Given the description of an element on the screen output the (x, y) to click on. 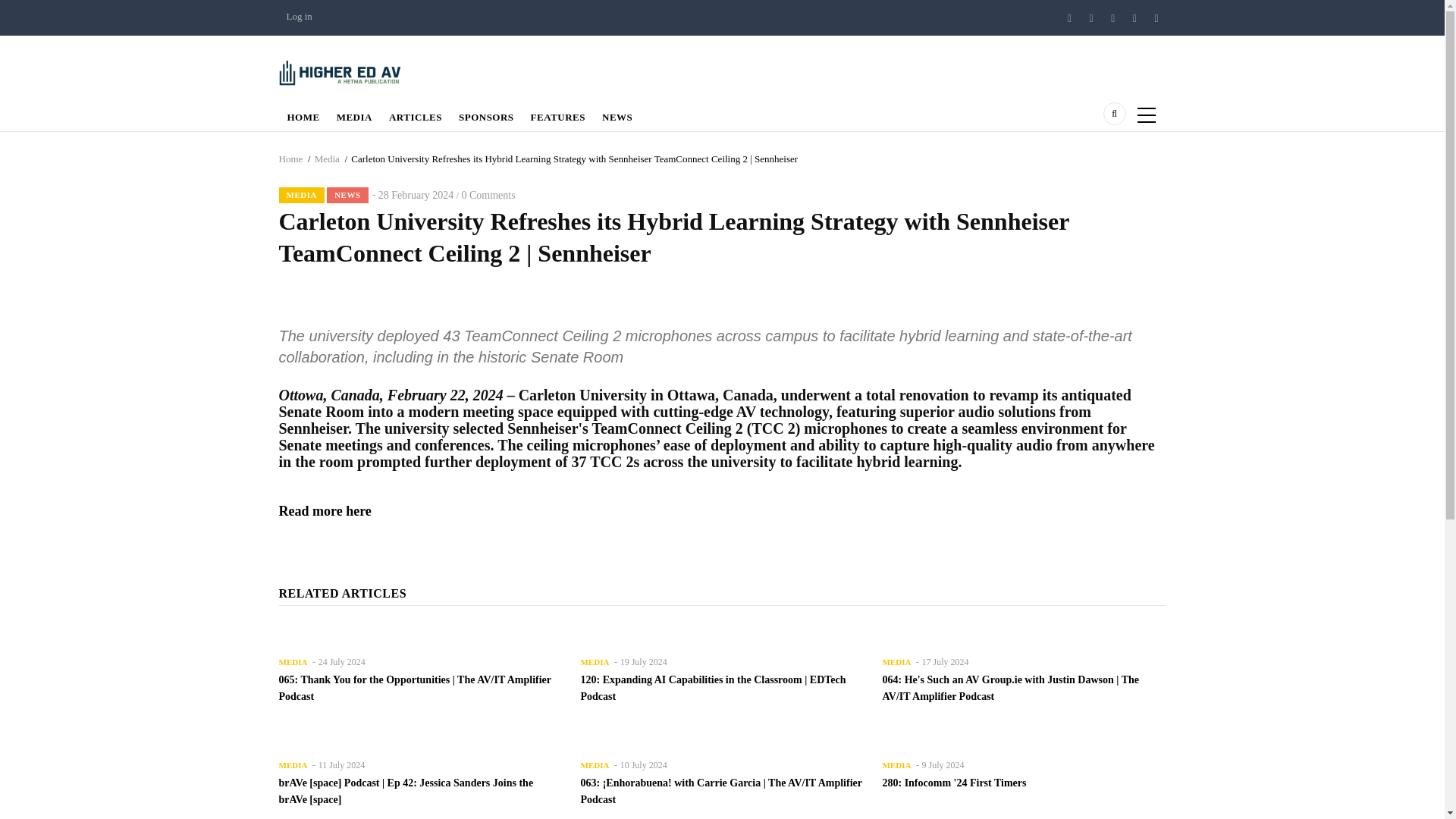
MEDIA (293, 764)
MEDIA (354, 113)
Home (290, 158)
MEDIA (301, 195)
Read more here (325, 510)
Media (326, 158)
NEWS (617, 113)
NEWS (347, 195)
FEATURES (558, 113)
MEDIA (293, 661)
Log in (299, 16)
SPONSORS (485, 113)
Search (1045, 176)
Home (345, 71)
